Given the description of an element on the screen output the (x, y) to click on. 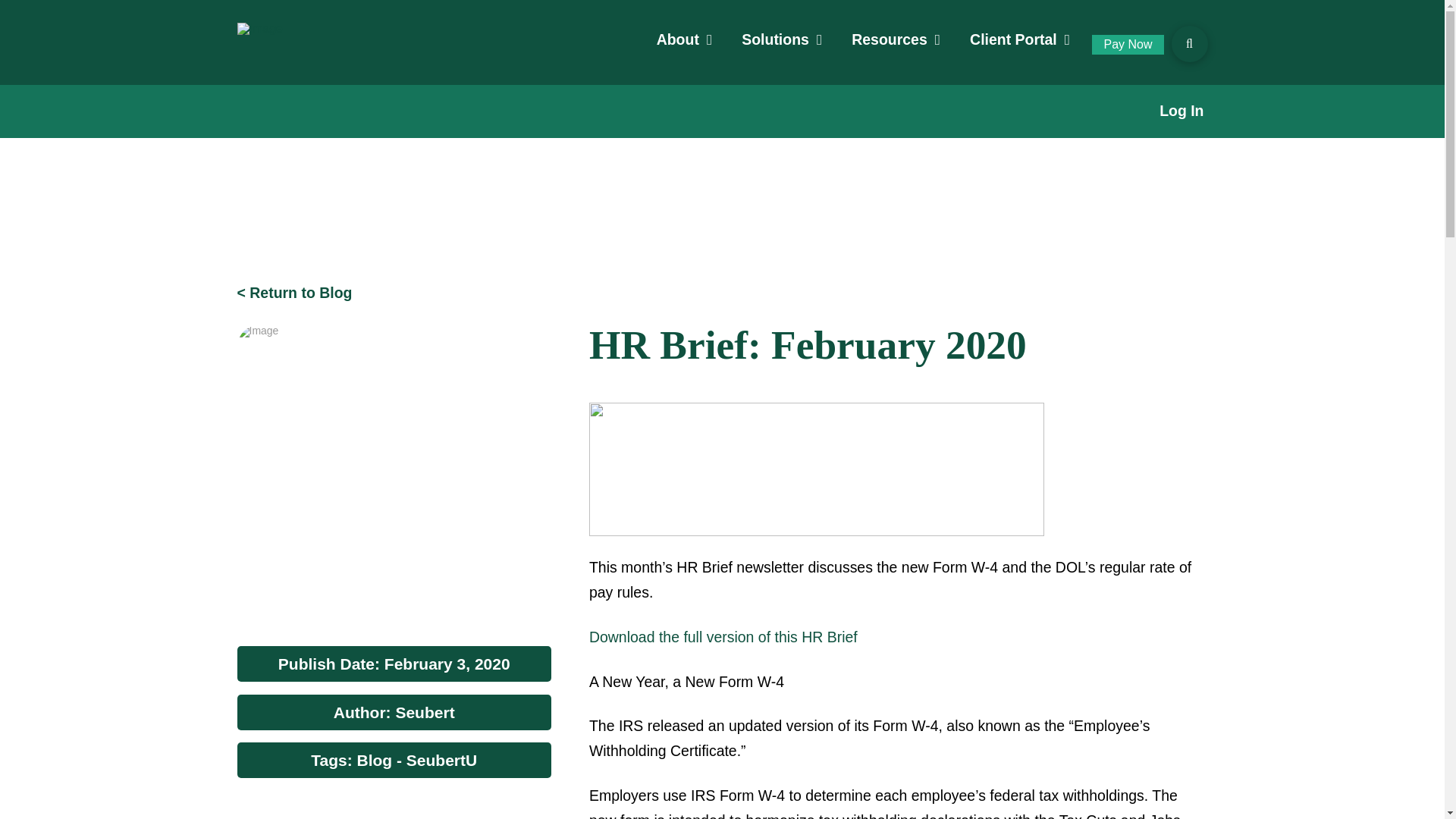
Client Portal (1019, 39)
Log In (1181, 110)
Solutions (781, 39)
Pay Now (1127, 44)
Resources (896, 39)
About (684, 39)
